Given the description of an element on the screen output the (x, y) to click on. 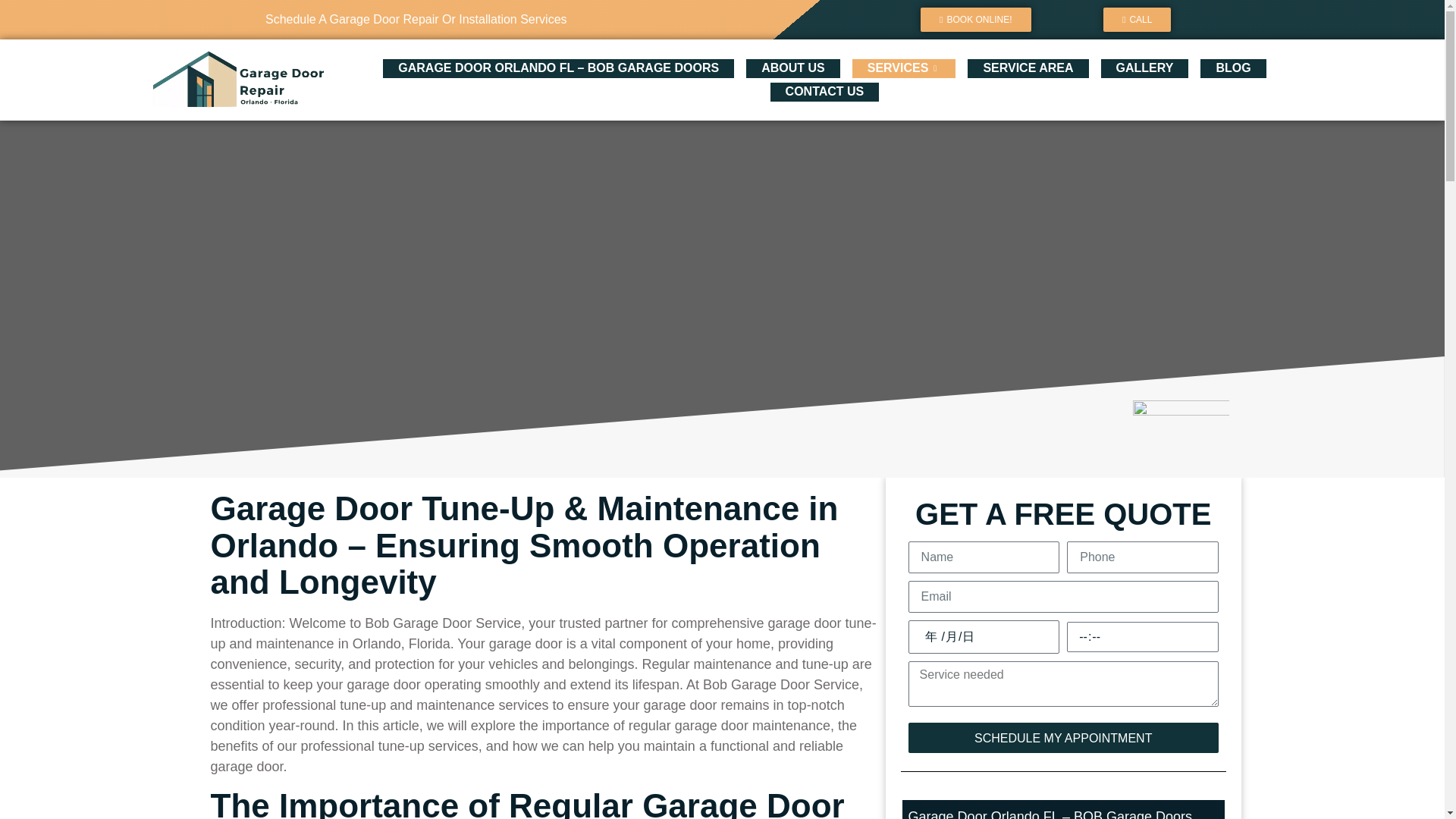
SERVICES (904, 68)
SERVICE AREA (1027, 68)
CONTACT US (825, 92)
BOOK ONLINE! (975, 19)
GALLERY (1145, 68)
BLOG (1233, 68)
CALL (1136, 19)
ABOUT US (793, 68)
SCHEDULE MY APPOINTMENT (1063, 737)
